Given the description of an element on the screen output the (x, y) to click on. 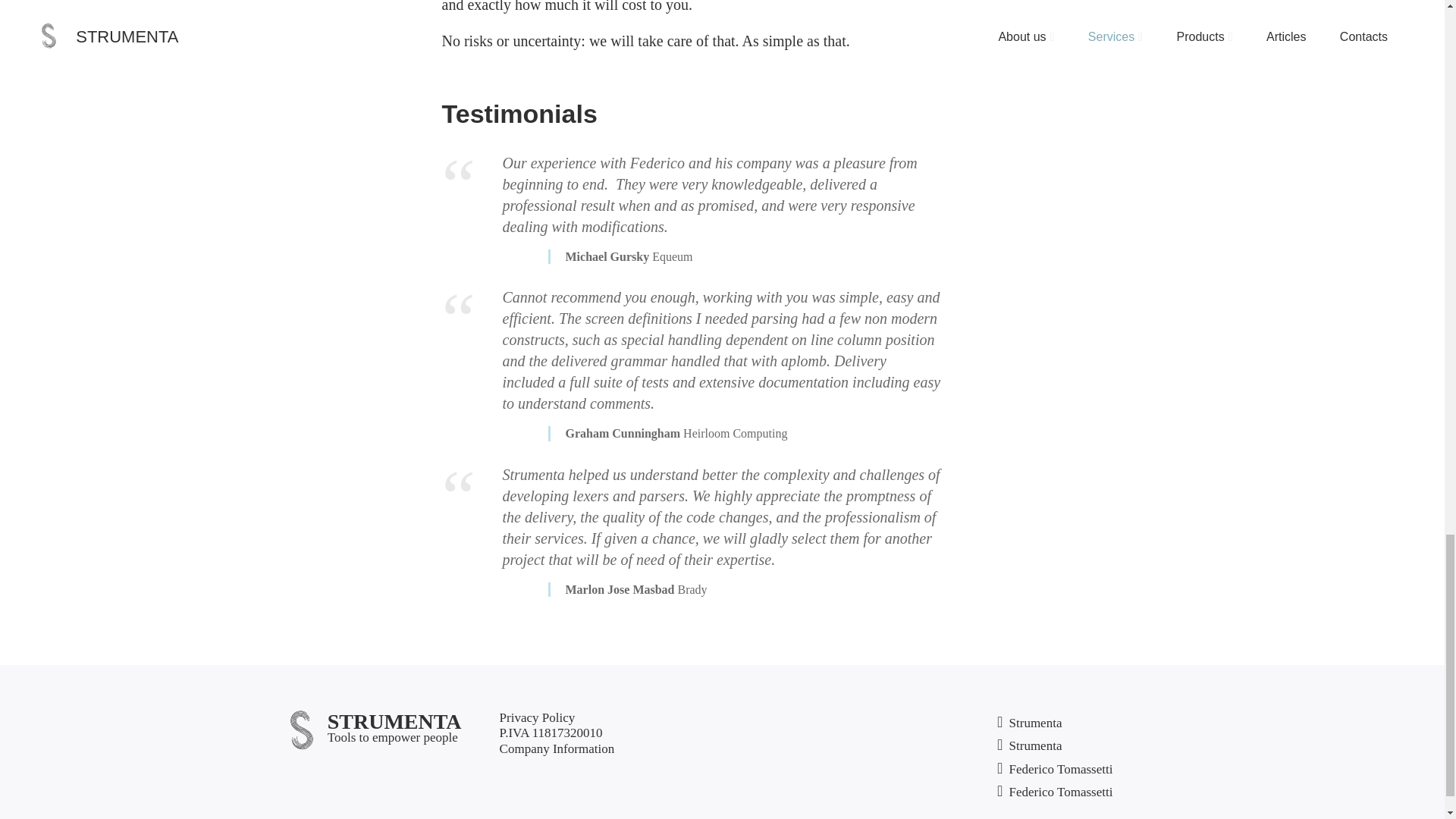
Federico Tomassetti (1054, 769)
Federico Tomassetti (1054, 792)
Privacy Policy (537, 717)
Strumenta (1029, 723)
Company Information (556, 749)
Strumenta (1029, 746)
